Given the description of an element on the screen output the (x, y) to click on. 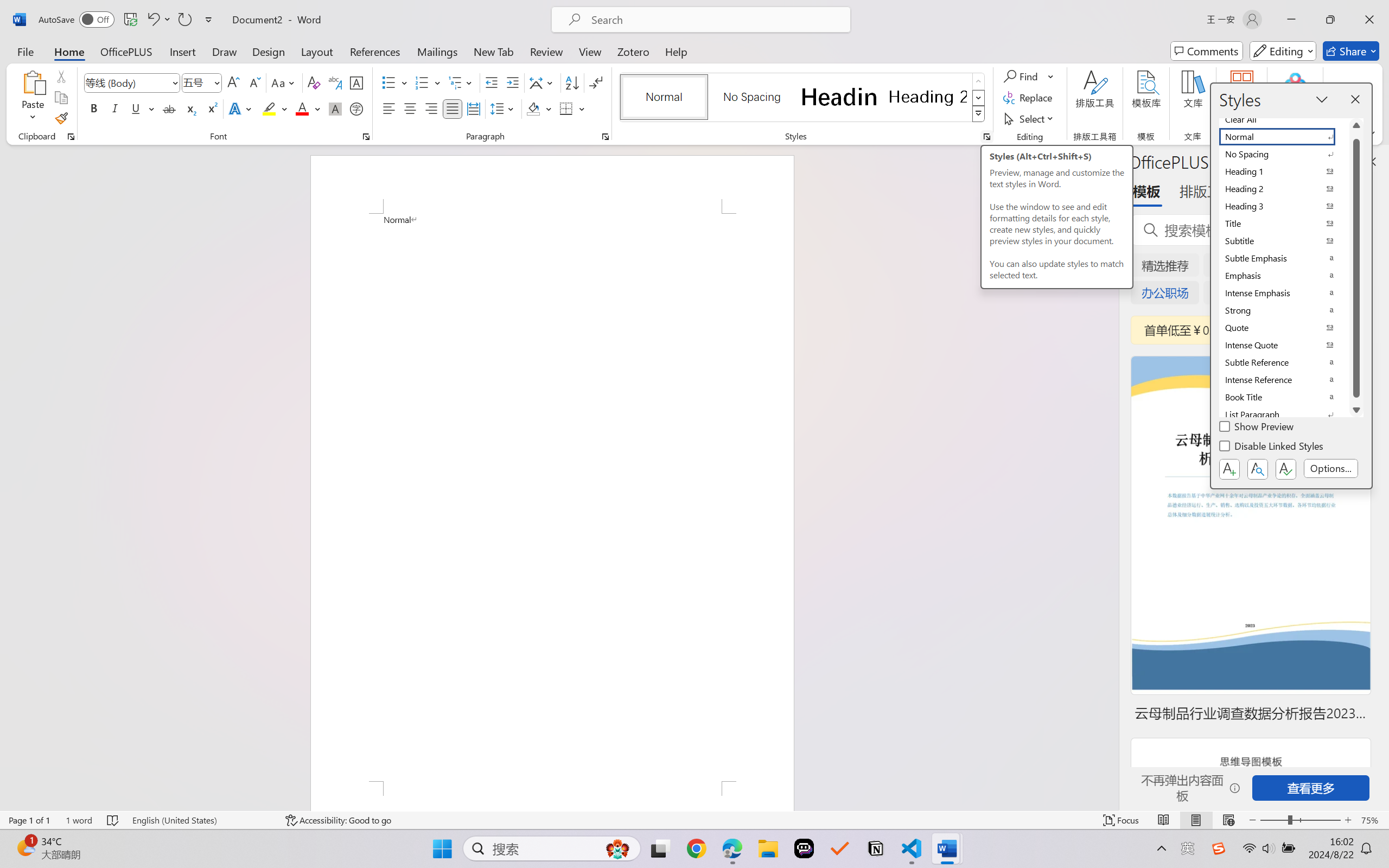
Subscript (190, 108)
Cut (60, 75)
Spelling and Grammar Check No Errors (113, 819)
Character Border (356, 82)
Mailings (437, 51)
Ribbon Display Options (1370, 132)
Subtle Emphasis (1283, 258)
Quick Access Toolbar (127, 19)
Enclose Characters... (356, 108)
Web Layout (1228, 819)
Styles (978, 113)
Strong (1283, 310)
